Given the description of an element on the screen output the (x, y) to click on. 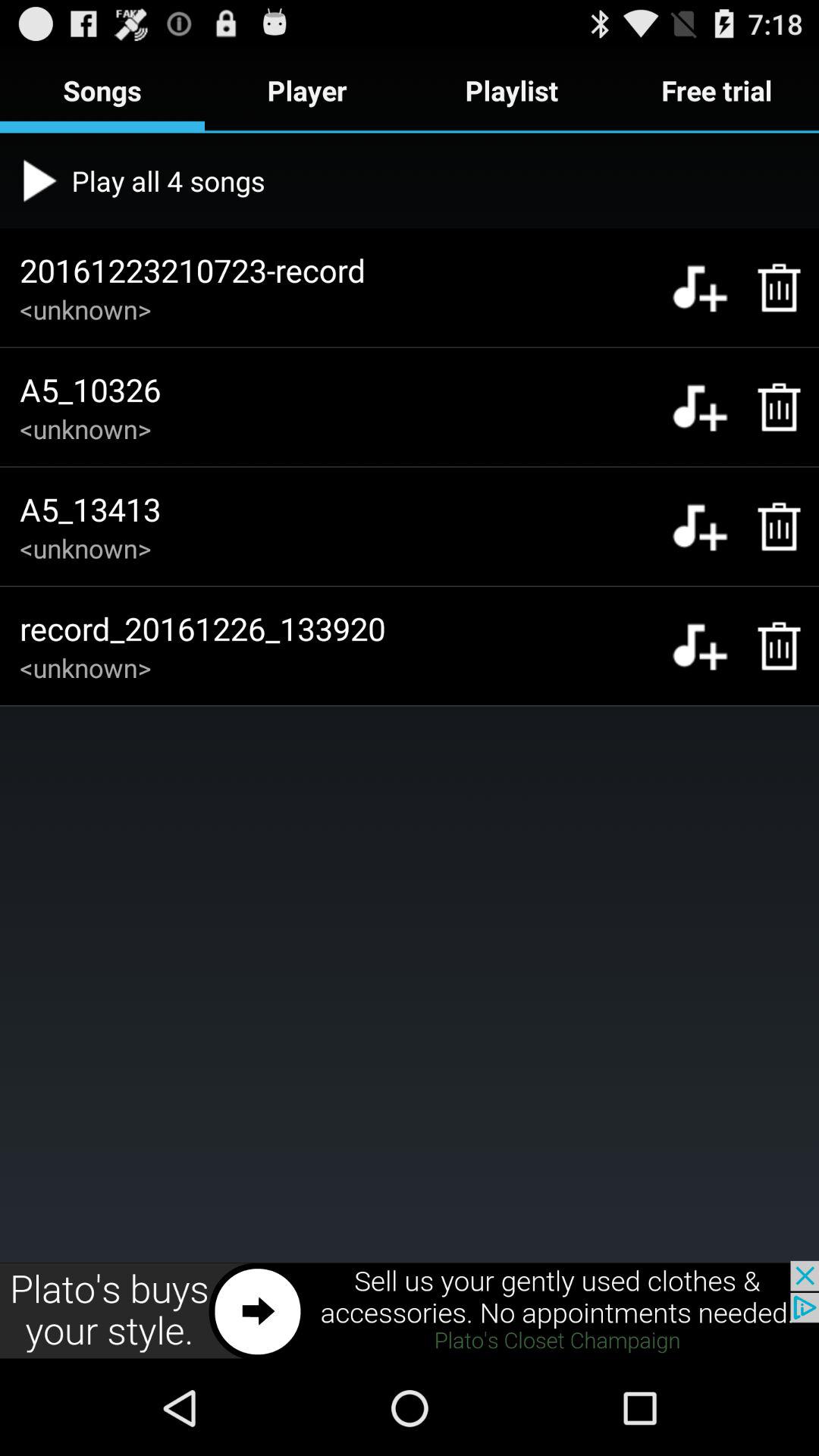
add song to playlist (699, 287)
